Given the description of an element on the screen output the (x, y) to click on. 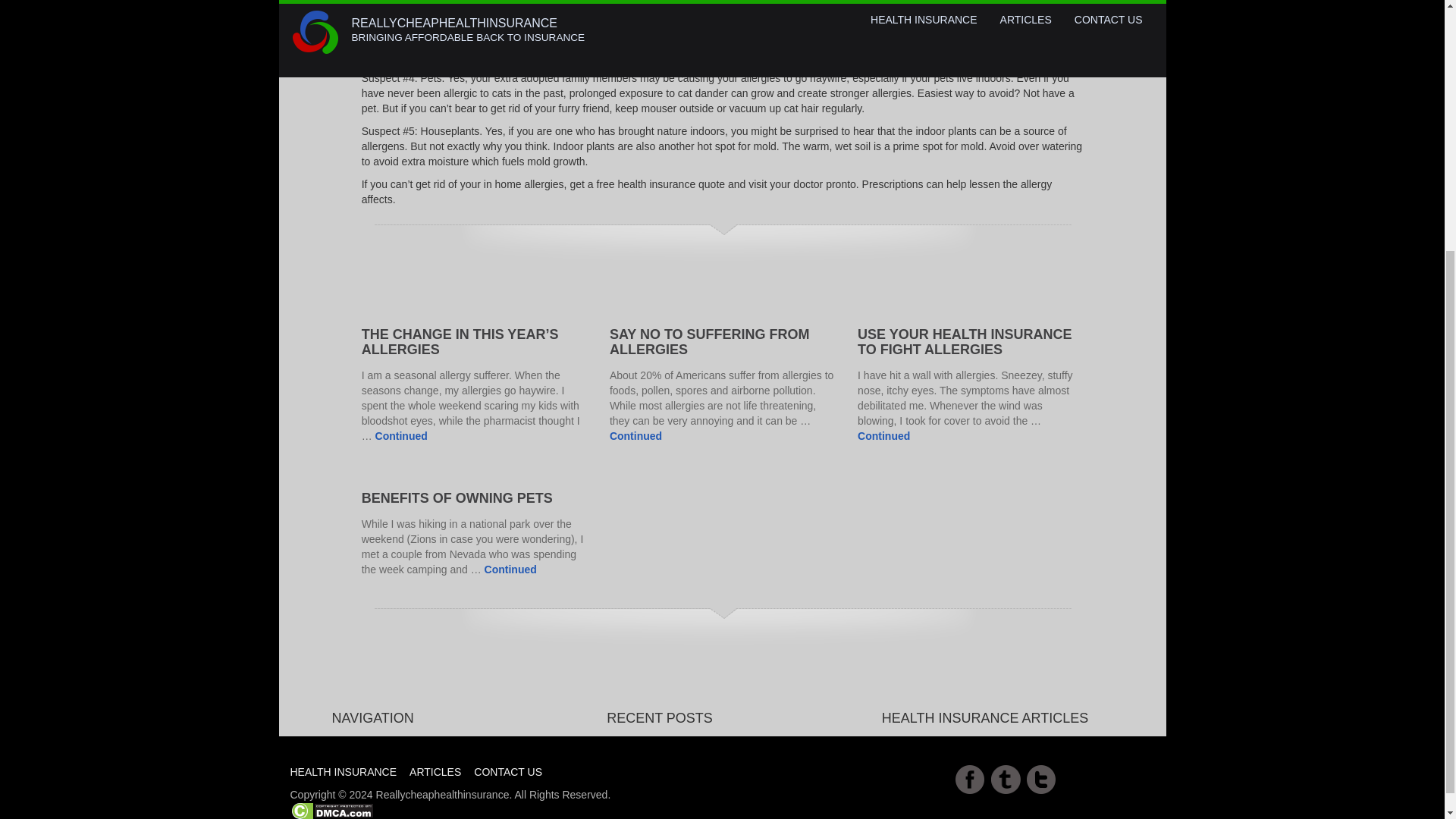
Continued (636, 435)
USE YOUR HEALTH INSURANCE TO FIGHT ALLERGIES (964, 341)
Continued (510, 569)
SAY NO TO SUFFERING FROM ALLERGIES (709, 341)
Continued (401, 435)
Continued (883, 435)
Cheap Health Insurance Plans (434, 740)
BENEFITS OF OWNING PETS (457, 498)
